Given the description of an element on the screen output the (x, y) to click on. 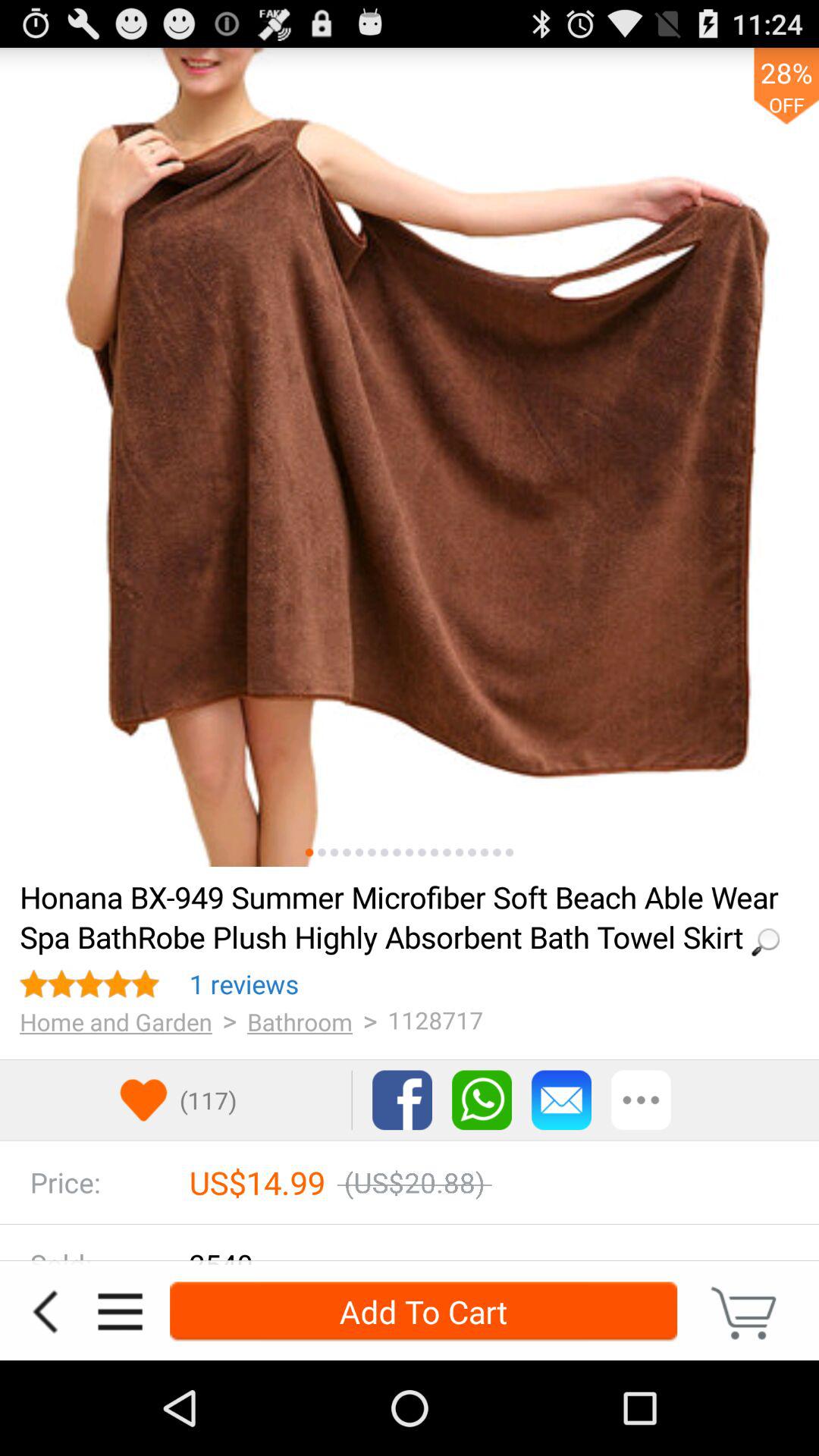
select product image (434, 852)
